Given the description of an element on the screen output the (x, y) to click on. 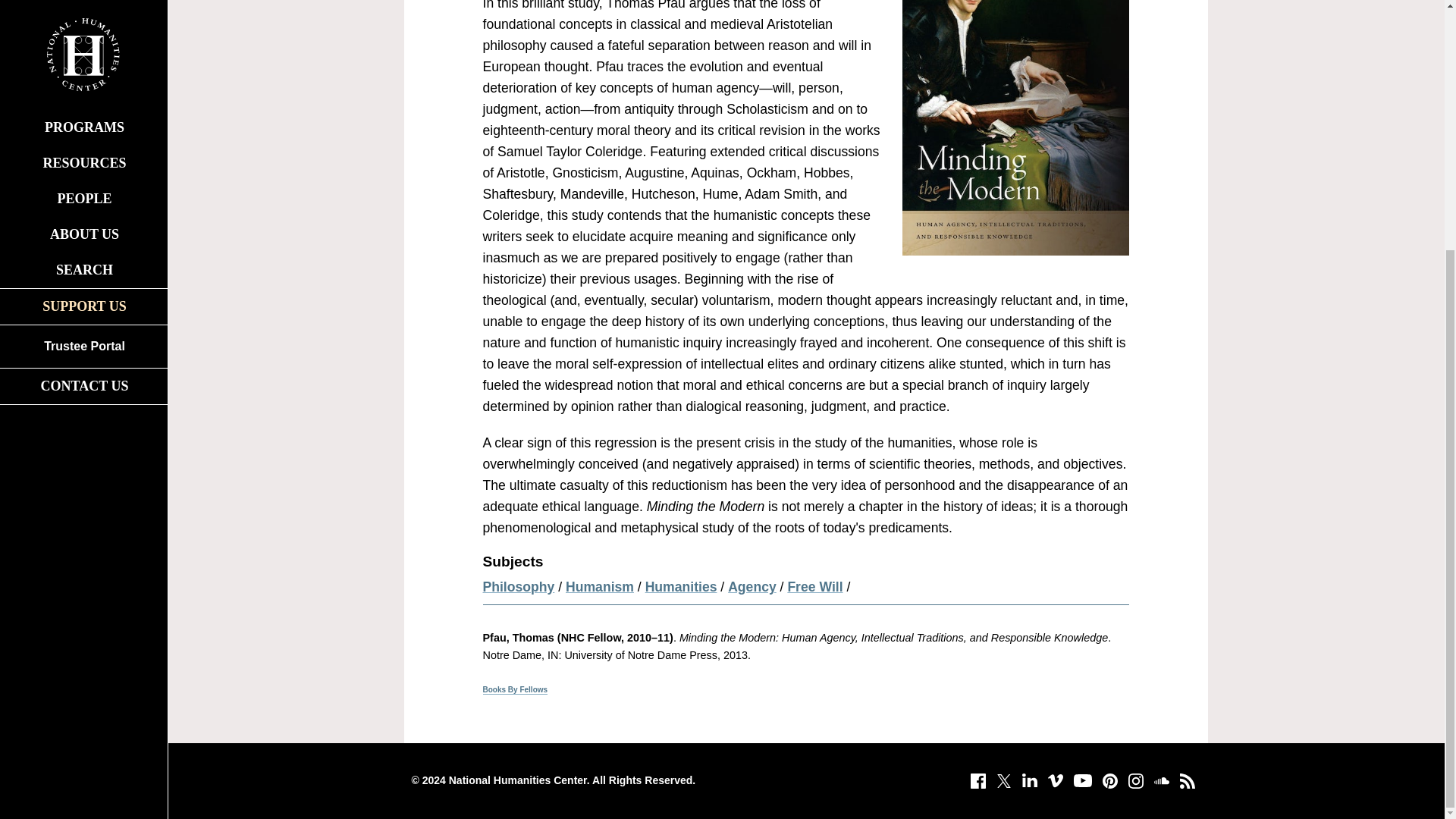
Pinterest (1109, 780)
YouTube (1081, 780)
Instagram (1135, 780)
Soundcloud (1160, 780)
Facebook (976, 780)
LinkedIn (1029, 780)
Vimeo (1054, 781)
Subscribe via RSS (1186, 780)
X (1003, 781)
